Given the description of an element on the screen output the (x, y) to click on. 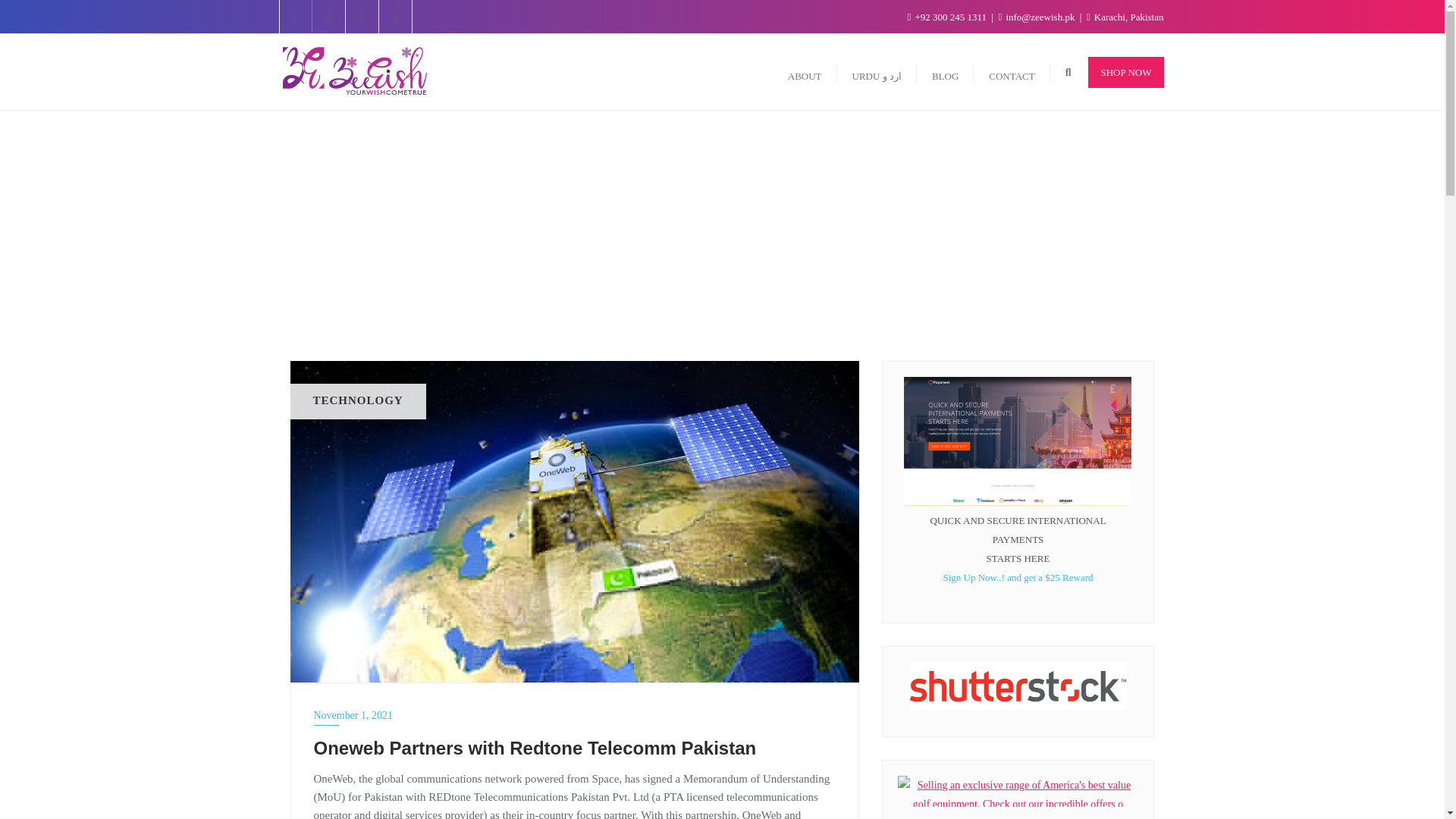
BLOG (945, 72)
CONTACT (1011, 72)
ABOUT (805, 72)
November 1, 2021 (574, 714)
SHOP NOW (1126, 72)
